Given the description of an element on the screen output the (x, y) to click on. 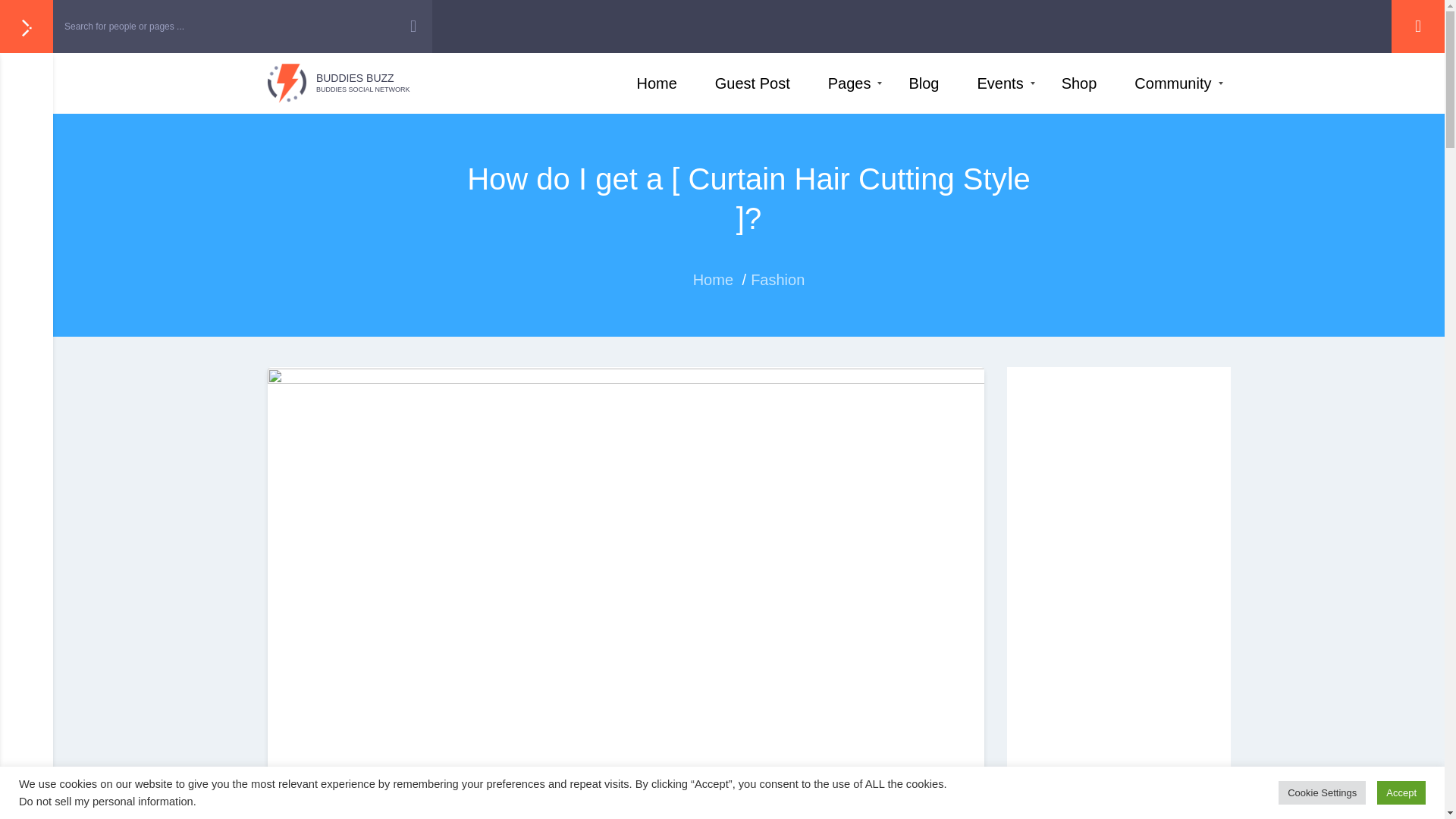
Guest Post (752, 83)
Community (1172, 83)
Advertisement (337, 83)
Blog (1117, 601)
Events (923, 83)
Home (923, 83)
All posts from Fashion (1000, 83)
Shop (656, 83)
Pages (319, 813)
